Given the description of an element on the screen output the (x, y) to click on. 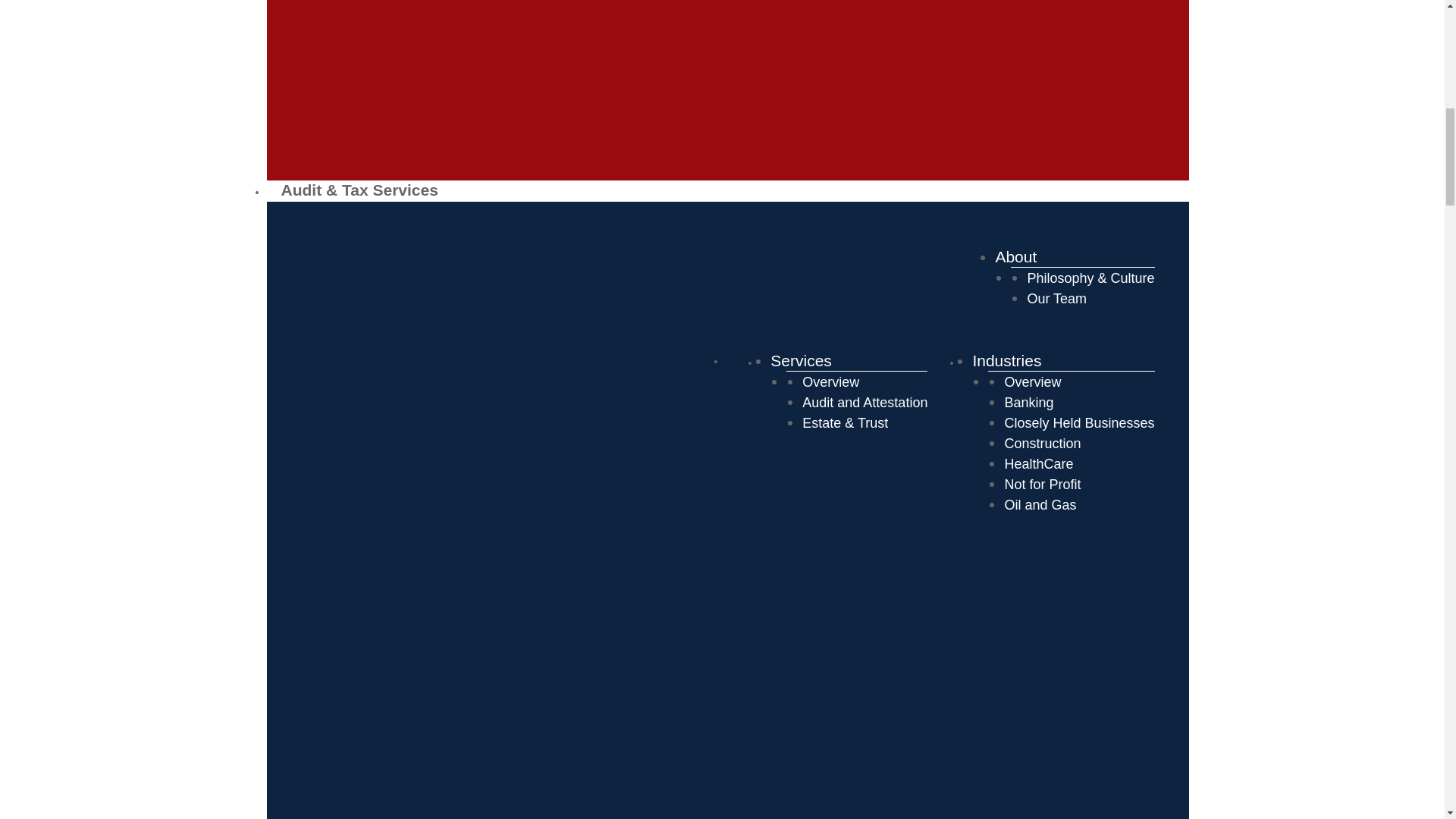
Industries (1006, 360)
Services (800, 360)
Our Team (1056, 298)
Construction (1042, 443)
Not for Profit (1042, 484)
Audit and Attestation (864, 402)
HealthCare (1038, 463)
About (1015, 256)
Overview (1032, 381)
Banking (1028, 402)
